Given the description of an element on the screen output the (x, y) to click on. 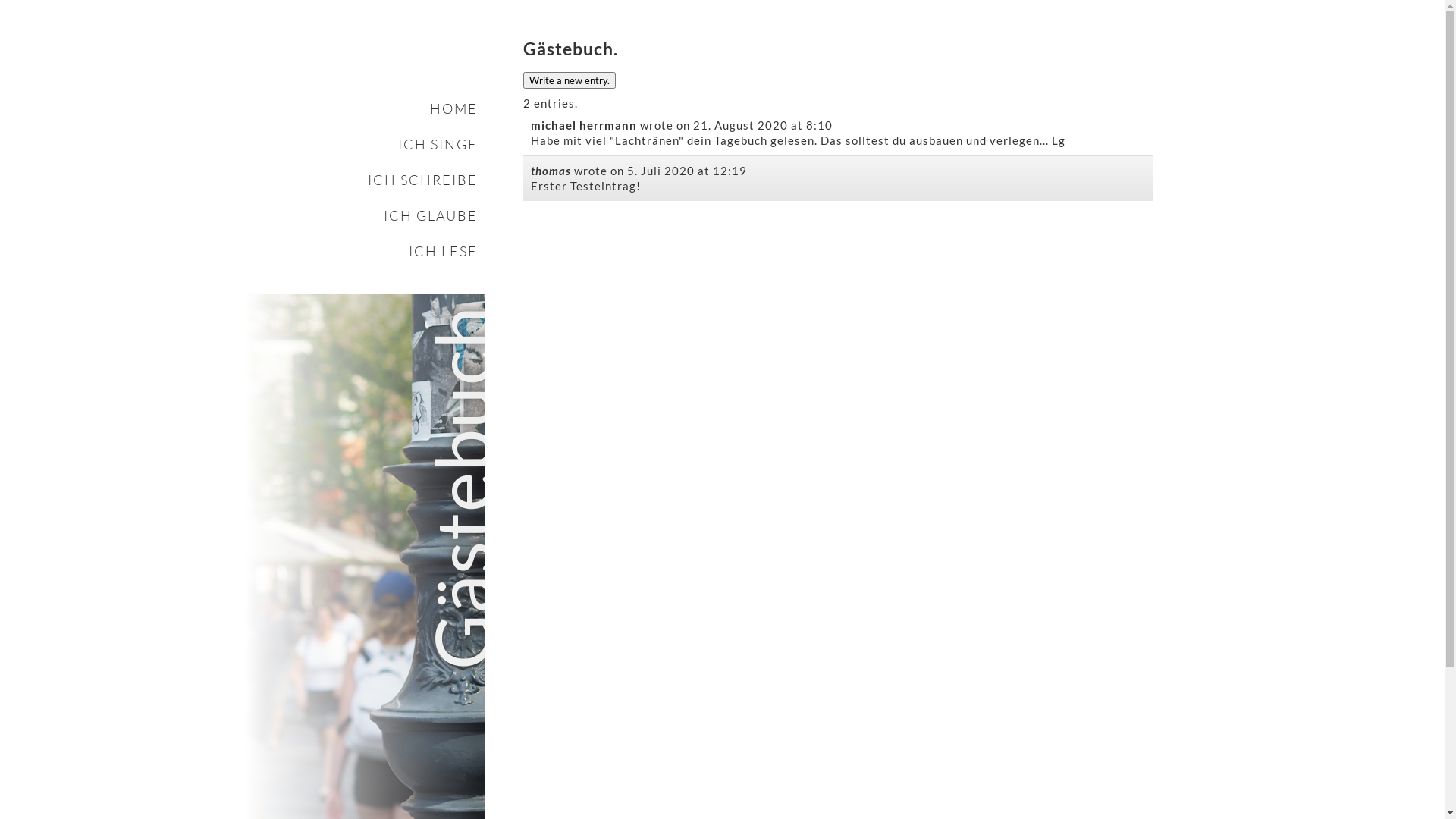
HOME Element type: text (360, 108)
ICH LESE Element type: text (360, 251)
ICH SCHREIBE Element type: text (360, 180)
ICH SINGE Element type: text (360, 144)
ICH GLAUBE Element type: text (360, 215)
